Given the description of an element on the screen output the (x, y) to click on. 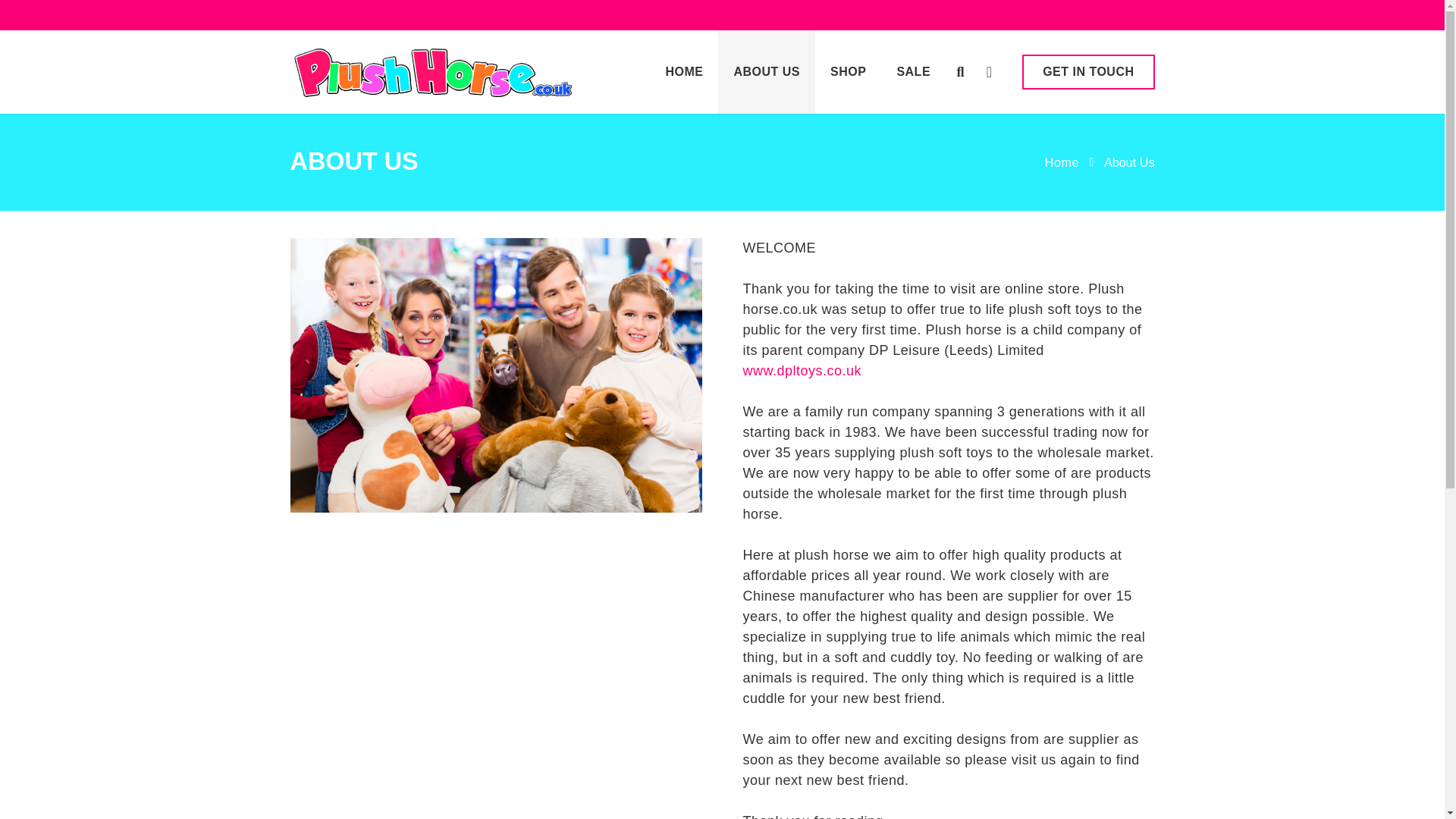
ABOUT US (766, 71)
www.dpltoys.co.uk (801, 370)
Home (1061, 161)
GET IN TOUCH (1088, 71)
